Given the description of an element on the screen output the (x, y) to click on. 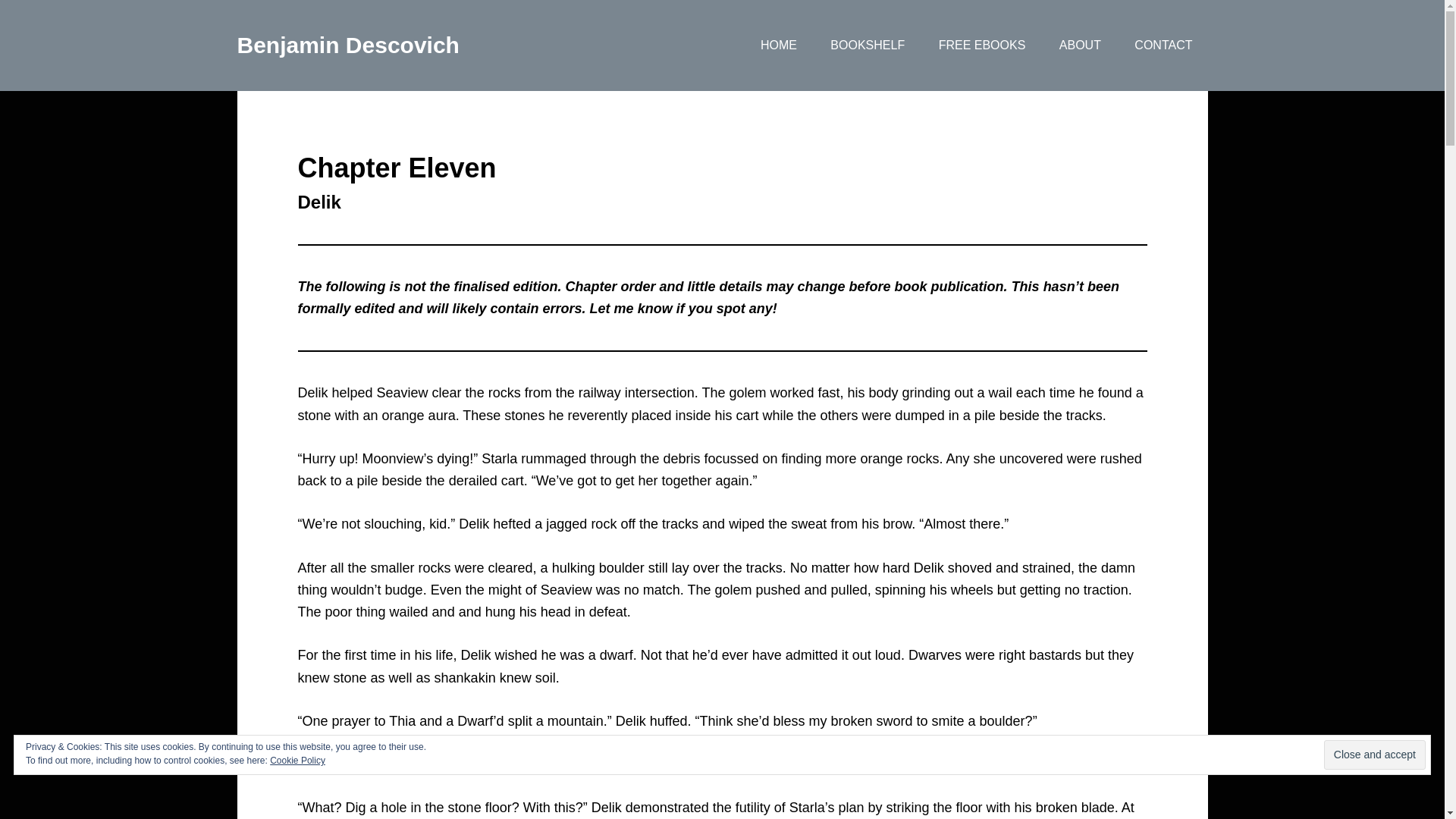
FREE EBOOKS (982, 45)
Cookie Policy (296, 760)
Benjamin Descovich (346, 44)
Close and accept (1374, 754)
CONTACT (1163, 45)
BOOKSHELF (867, 45)
Close and accept (1374, 754)
